Given the description of an element on the screen output the (x, y) to click on. 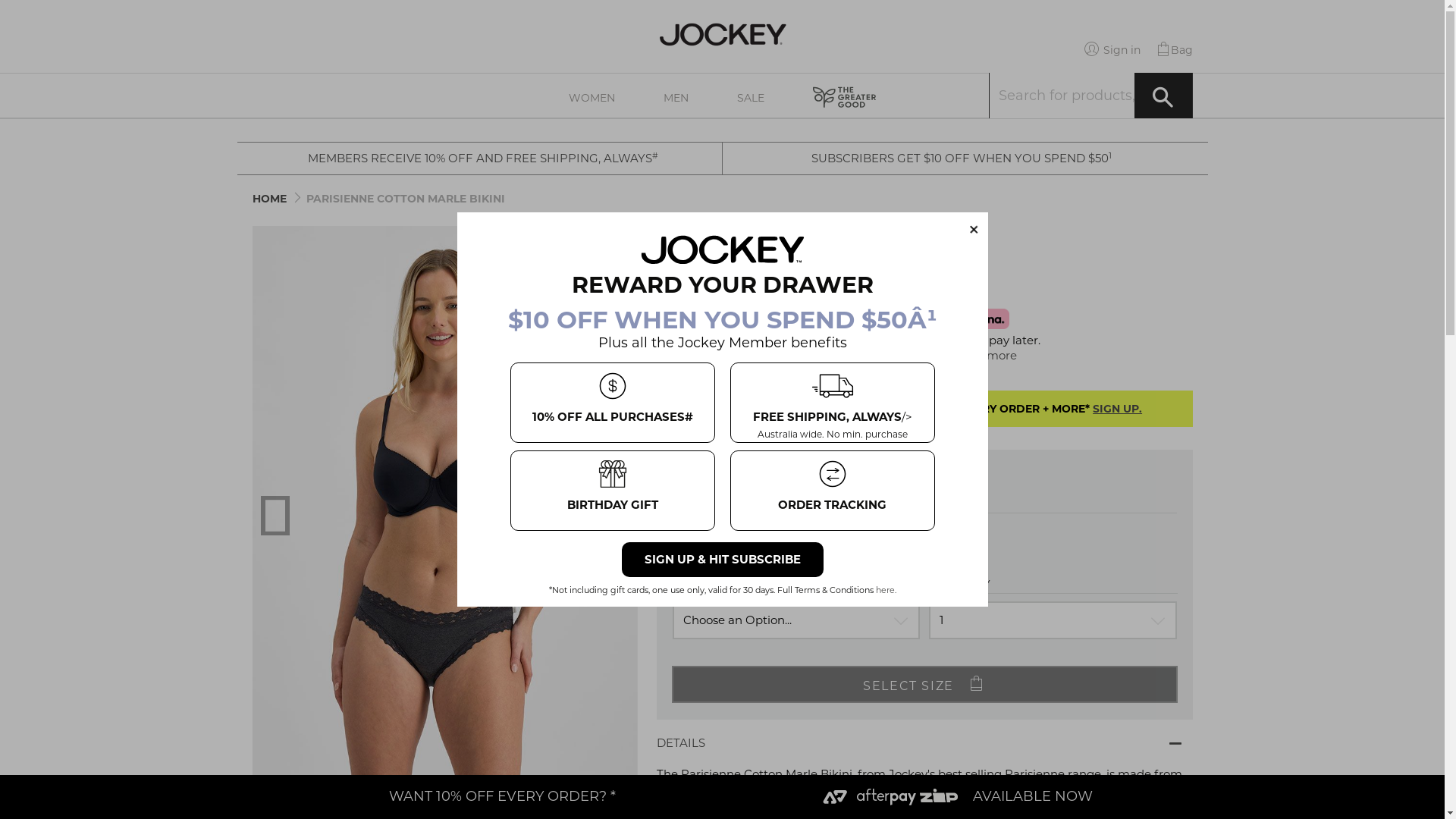
DETAILS Element type: text (924, 741)
Ink Blue Element type: hover (692, 540)
Learn more Element type: text (753, 349)
SIGN UP. Element type: text (1117, 408)
SIGN UP & HIT SUBSCRIBE Element type: text (722, 559)
40% OFF RRP Element type: hover (444, 792)
SALE Element type: text (750, 95)
Charcoal Marle Element type: hover (736, 540)
SUBSCRIBERS GET $10 OFF WHEN YOU SPEND $501 Element type: text (961, 158)
HOME Element type: text (268, 198)
Learn more Element type: text (983, 355)
SELECT SIZE Element type: text (924, 683)
write a review Element type: text (780, 257)
MEMBERS RECEIVE 10% OFF AND FREE SHIPPING, ALWAYS# Element type: text (482, 158)
MEN Element type: text (675, 95)
Sign in Element type: text (1112, 49)
SIZE CHART Element type: text (717, 472)
WOMEN Element type: text (591, 95)
here. Element type: text (885, 589)
Bag Element type: text (1173, 49)
